Given the description of an element on the screen output the (x, y) to click on. 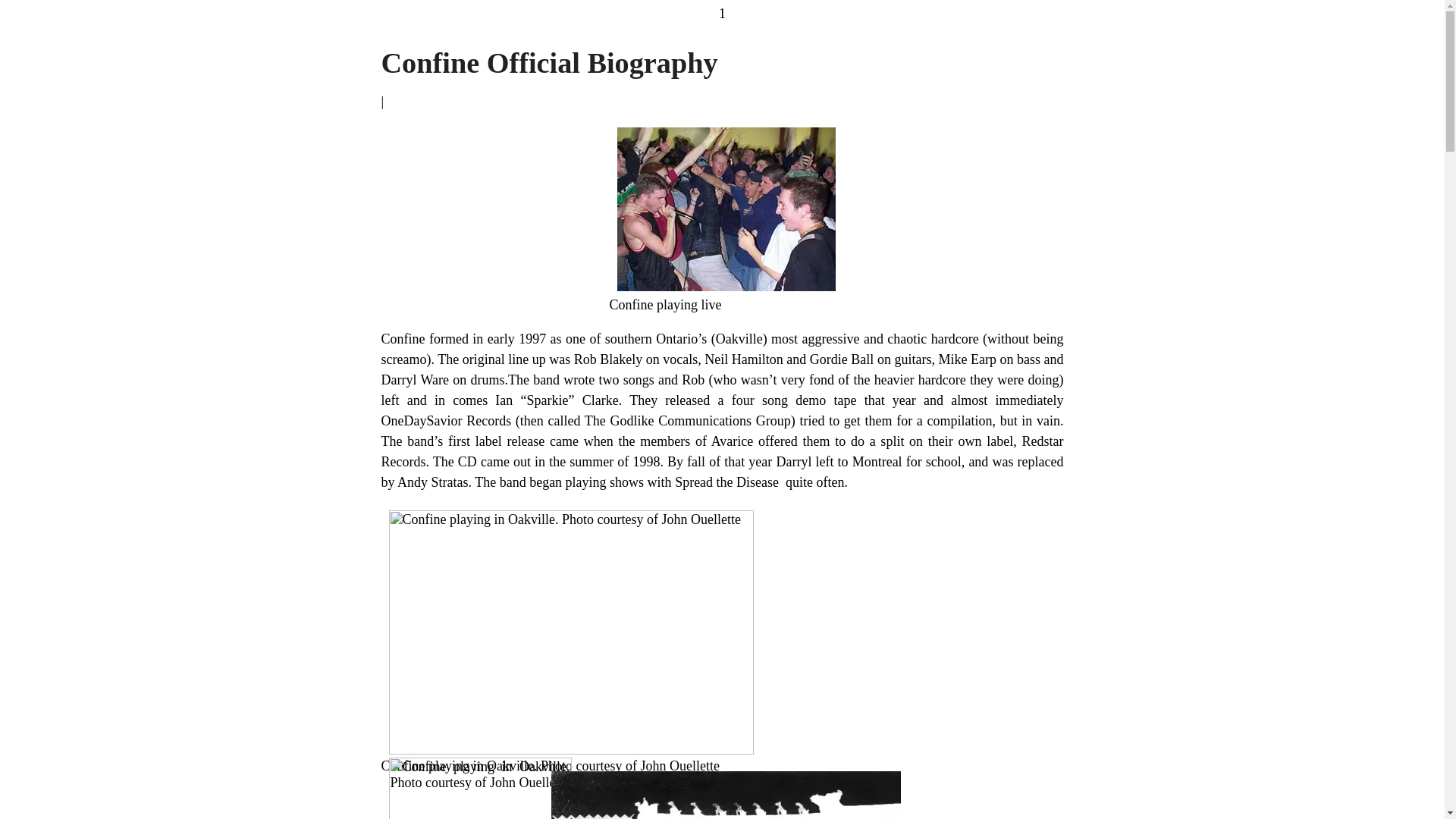
Confineline2 (479, 788)
OneDaySavior Records (445, 420)
Avarice (732, 441)
Redstar Records (721, 451)
Confineline1 (570, 632)
Spread the Disease (728, 482)
Spread the Disease (728, 482)
OneDaySavior Recordings on Canadian Releases (445, 420)
Avarice (732, 441)
Redstar Records (721, 451)
